Given the description of an element on the screen output the (x, y) to click on. 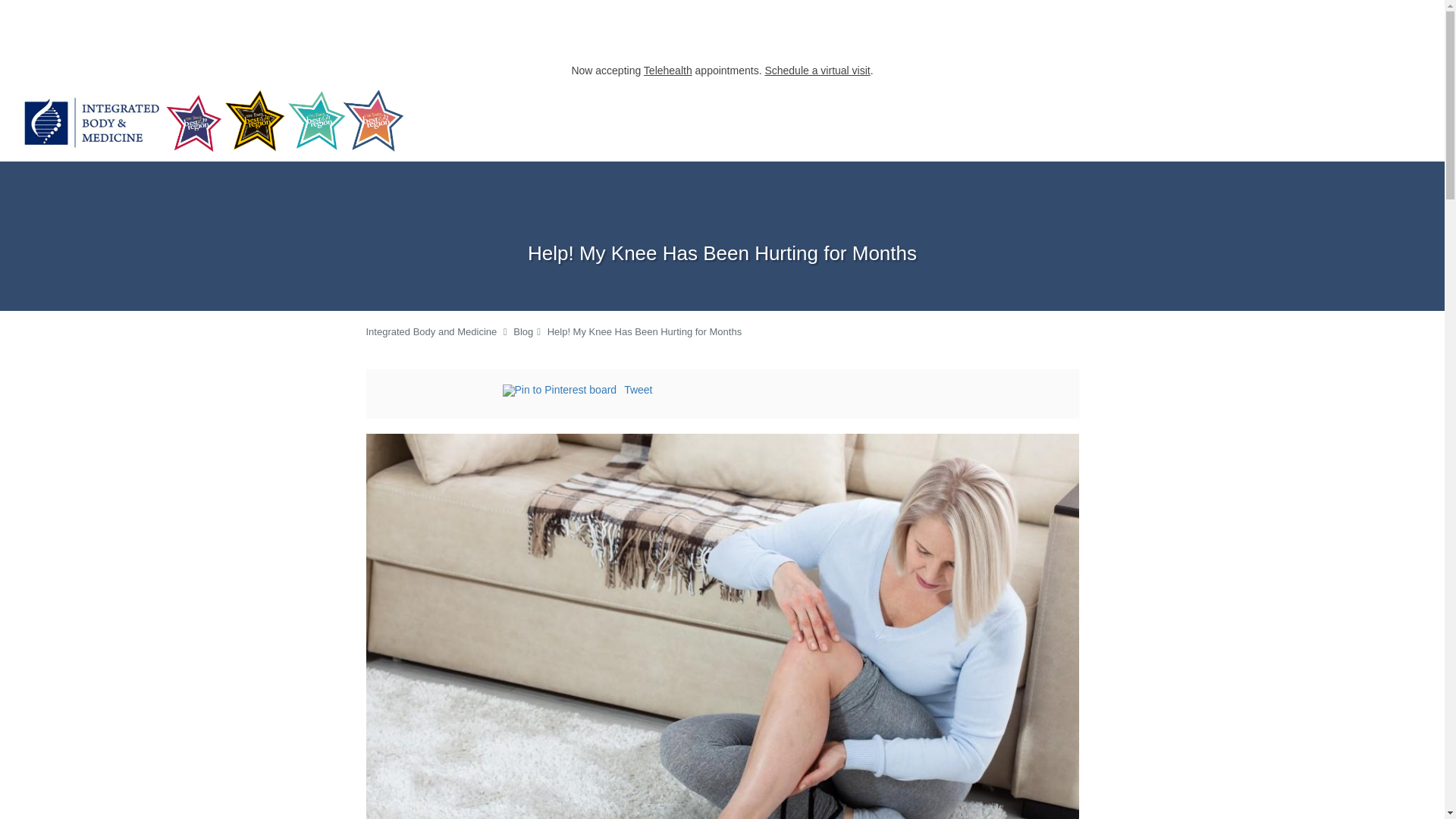
Schedule a virtual visit (816, 70)
Facebook social button (441, 392)
Skip to main content (74, 89)
Telehealth (668, 70)
